Given the description of an element on the screen output the (x, y) to click on. 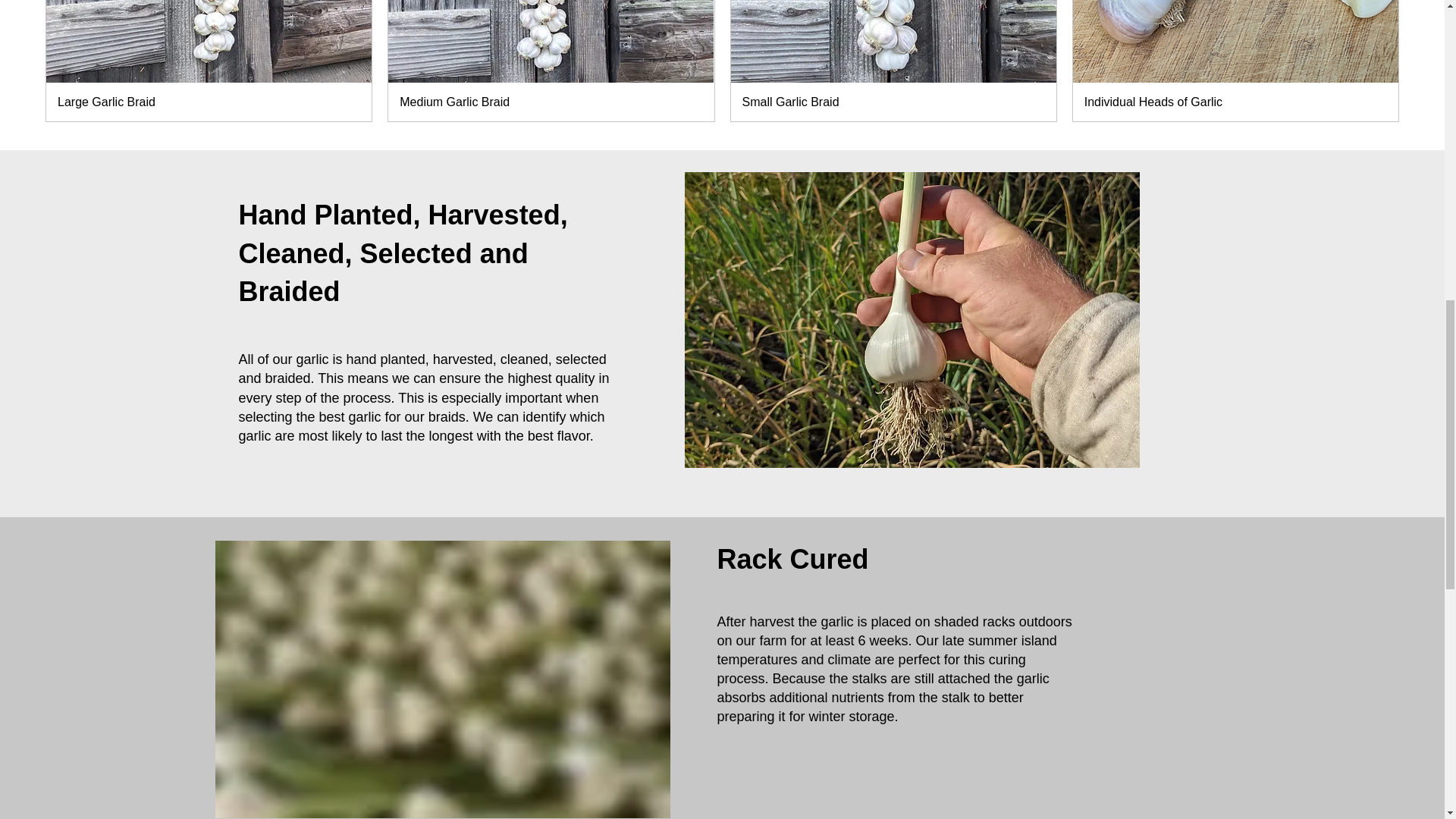
Large Garlic Braid (208, 102)
Small Garlic Braid (892, 102)
Individual Heads of Garlic (1235, 102)
Medium Garlic Braid (549, 102)
